Given the description of an element on the screen output the (x, y) to click on. 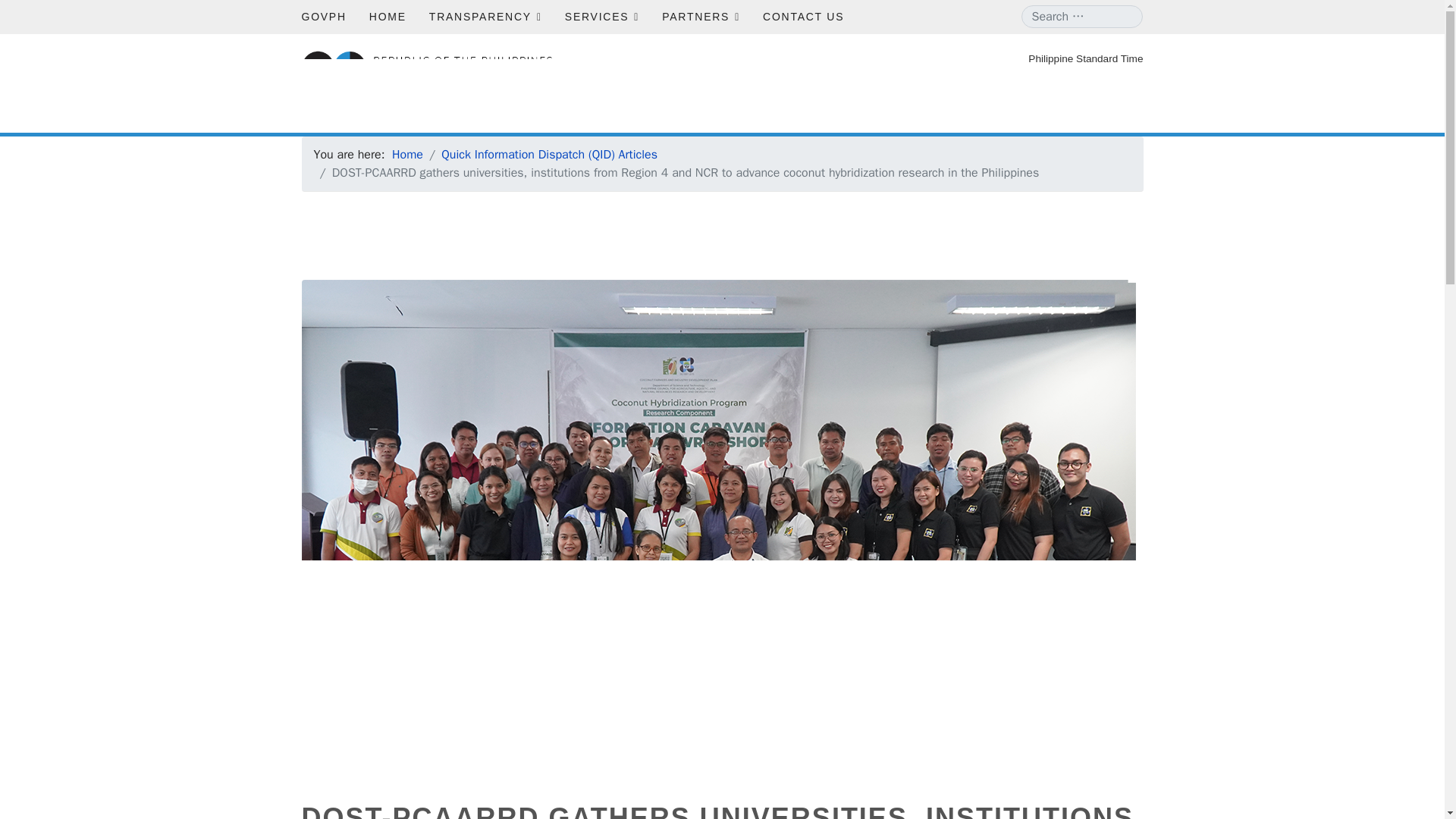
HOME (387, 17)
GOVPH (322, 17)
CONTACT US (797, 17)
Home (407, 154)
